Given the description of an element on the screen output the (x, y) to click on. 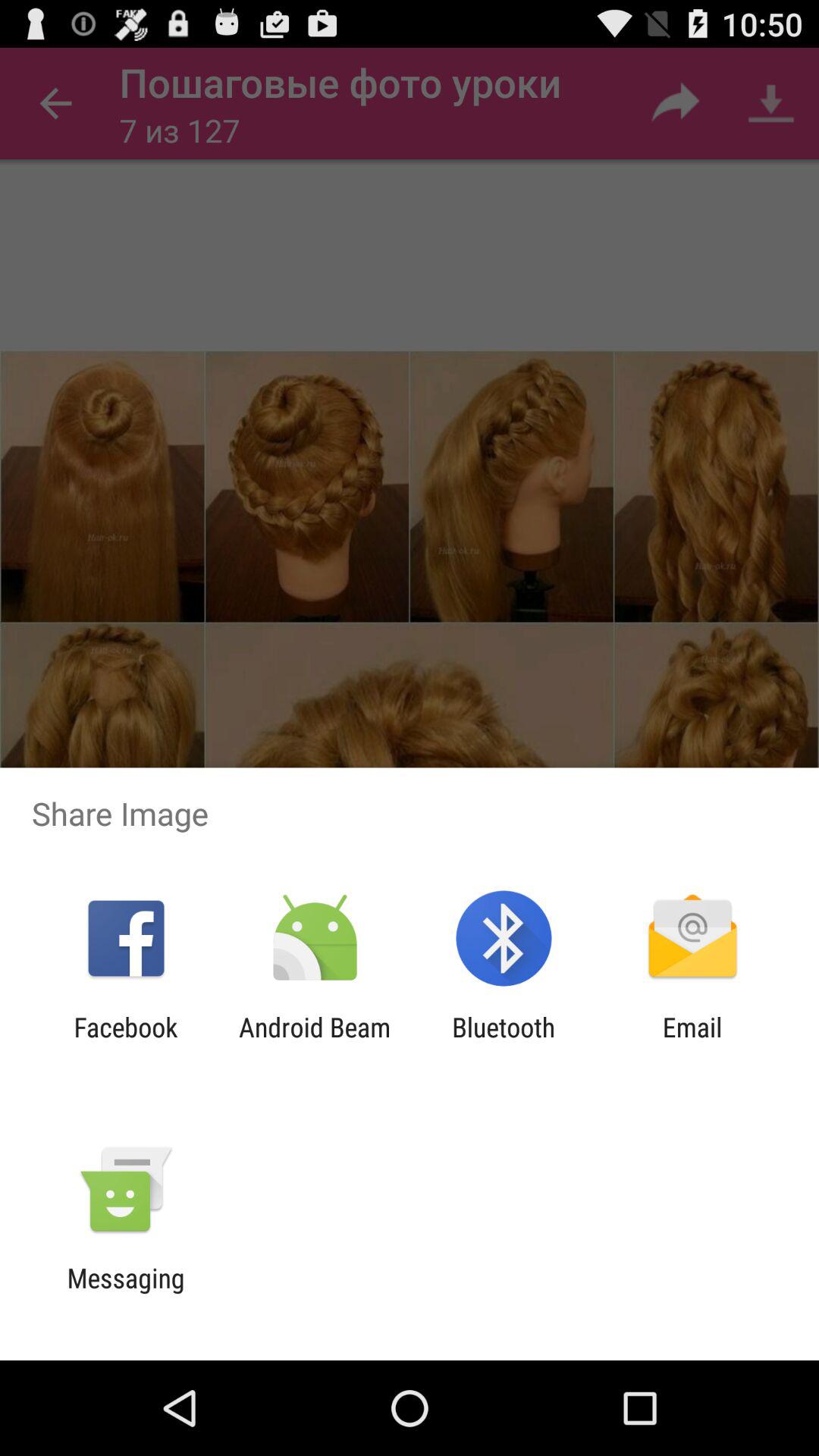
tap the icon next to the bluetooth (314, 1042)
